Given the description of an element on the screen output the (x, y) to click on. 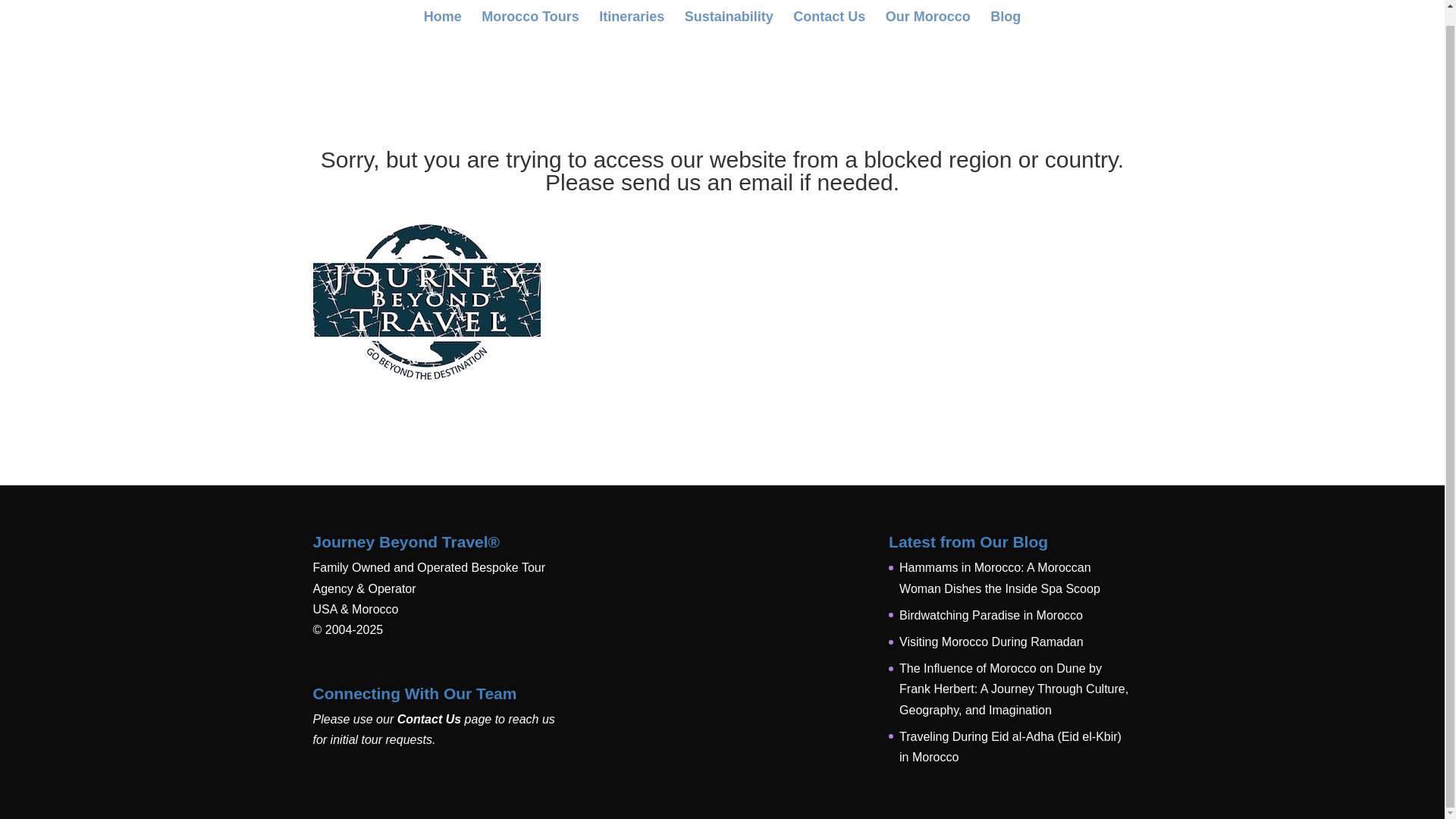
Morocco Tours (530, 9)
Visiting Morocco During Ramadan (991, 641)
Sustainability (728, 9)
Itineraries (630, 9)
Our Morocco (928, 9)
Birdwatching Paradise in Morocco (991, 615)
Contact Us (429, 718)
Home (442, 9)
Contact Us (828, 9)
